Given the description of an element on the screen output the (x, y) to click on. 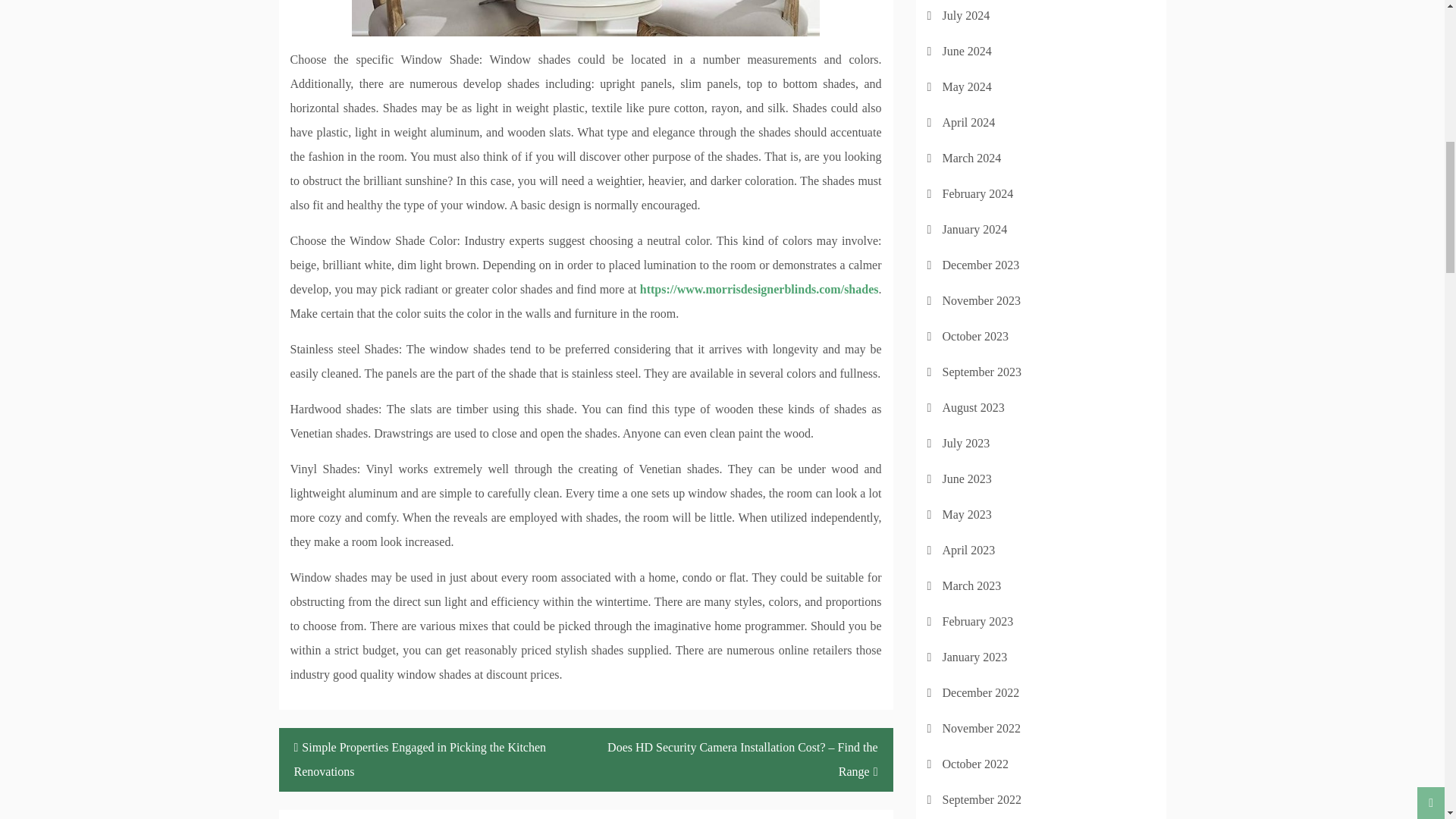
November 2023 (981, 300)
Simple Properties Engaged in Picking the Kitchen Renovations (432, 759)
December 2022 (980, 692)
April 2023 (968, 549)
February 2024 (977, 193)
February 2023 (977, 621)
July 2023 (966, 442)
June 2023 (966, 478)
December 2023 (980, 264)
May 2024 (966, 86)
August 2023 (973, 407)
March 2023 (971, 585)
October 2023 (975, 336)
January 2024 (974, 228)
January 2023 (974, 656)
